Given the description of an element on the screen output the (x, y) to click on. 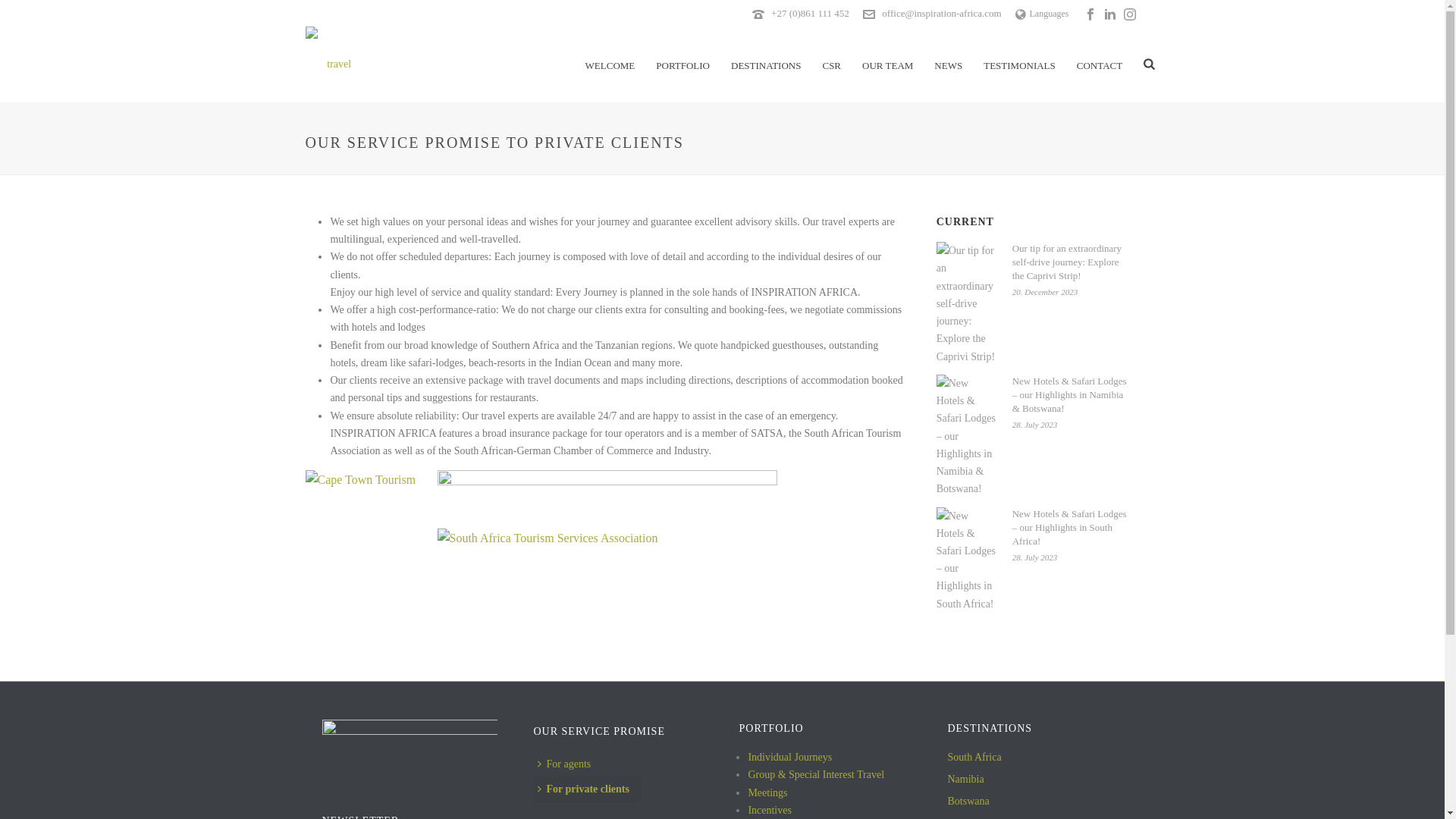
PORTFOLIO (682, 64)
OUR TEAM (887, 64)
TESTIMONIALS (1018, 64)
DESTINATIONS (765, 64)
Languages (1041, 13)
DESTINATIONS (765, 64)
OUR TEAM (887, 64)
PORTFOLIO (682, 64)
WELCOME (610, 64)
TESTIMONIALS (1018, 64)
WELCOME (610, 64)
